Given the description of an element on the screen output the (x, y) to click on. 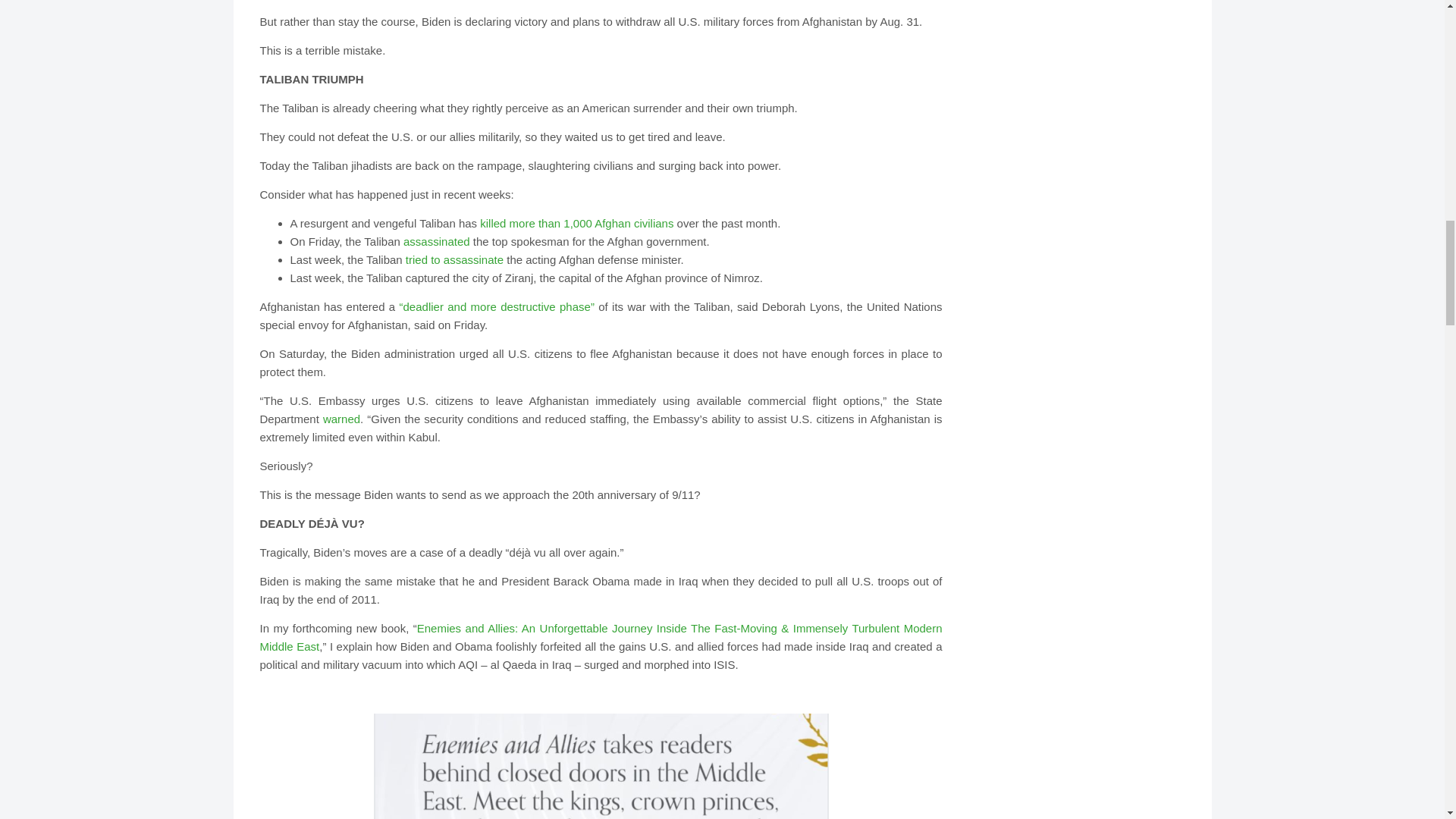
warned (341, 418)
killed more than 1,000 Afghan civilians (576, 223)
assassinated (436, 241)
tried to assassinate (454, 259)
